Given the description of an element on the screen output the (x, y) to click on. 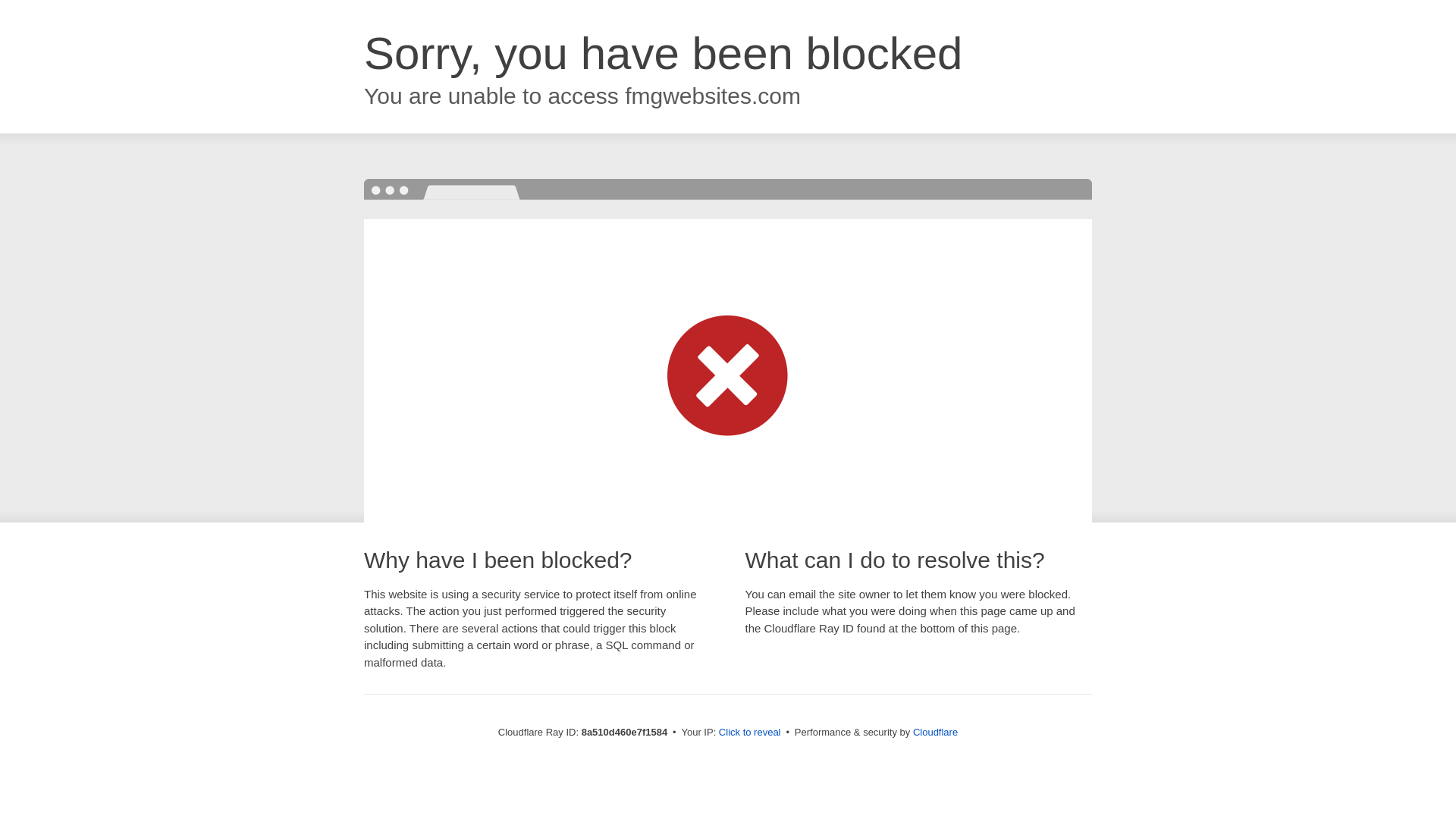
Cloudflare (935, 731)
Click to reveal (749, 732)
